Given the description of an element on the screen output the (x, y) to click on. 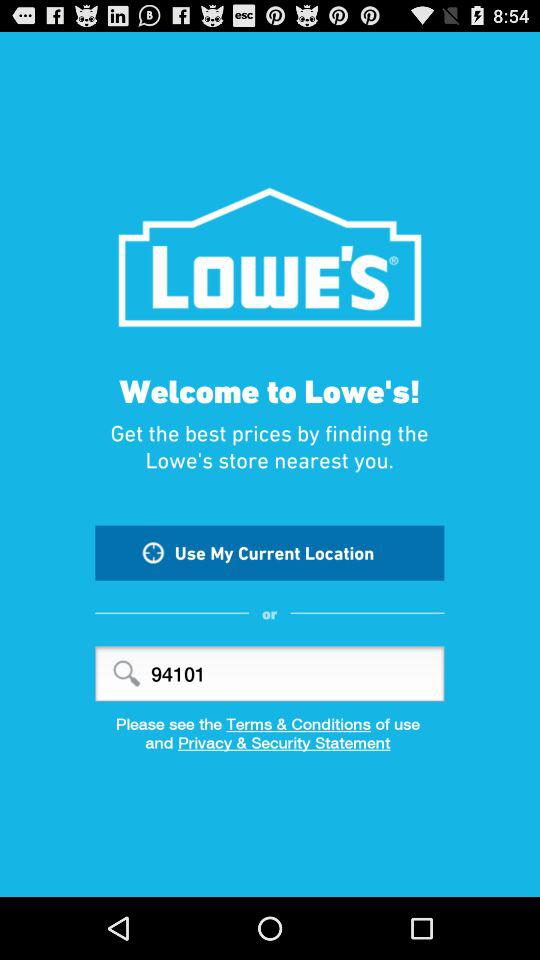
jump to and privacy security item (270, 749)
